Given the description of an element on the screen output the (x, y) to click on. 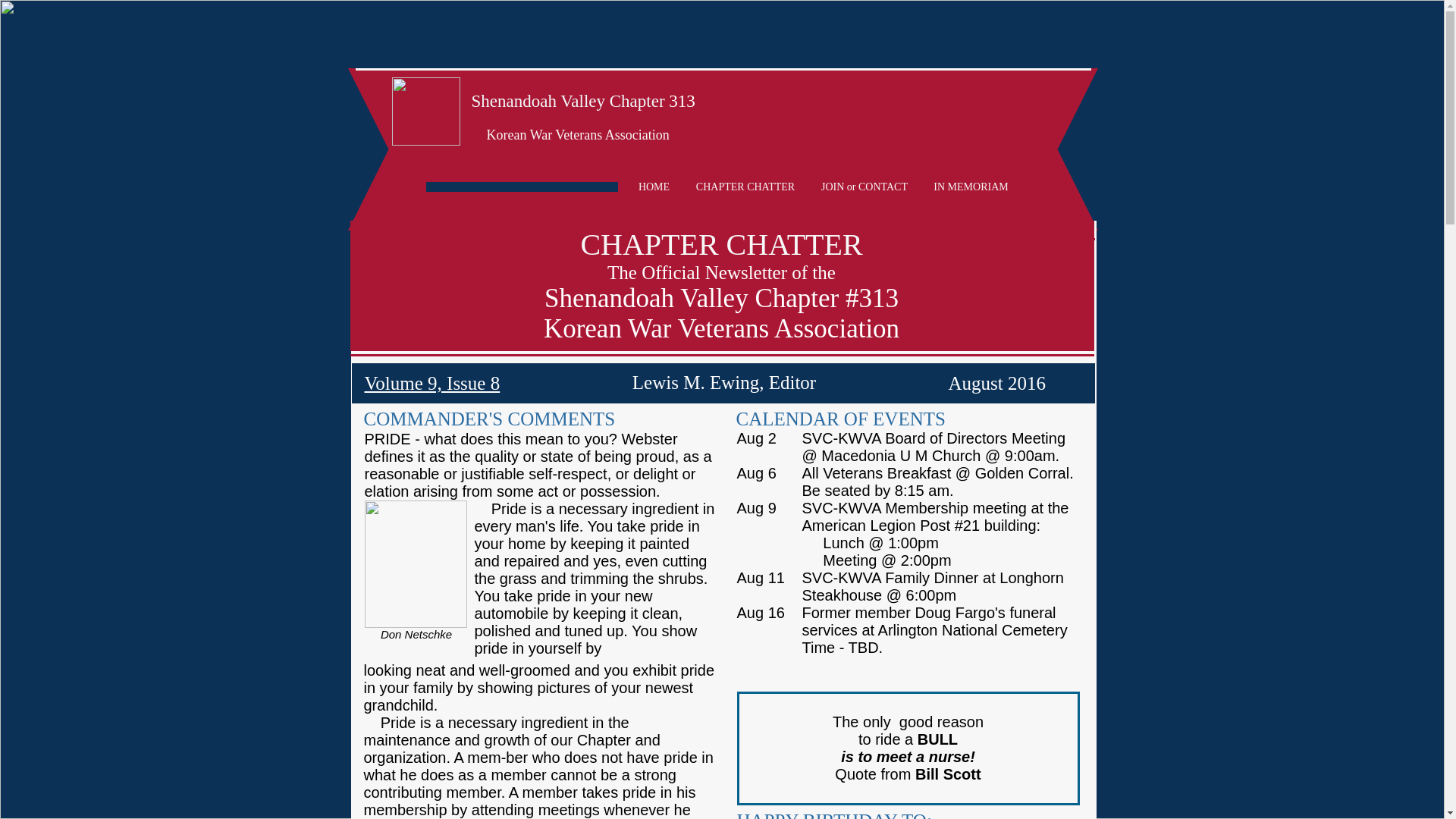
HOME (653, 186)
JOIN or CONTACT (864, 186)
Korean War Veterans Association (577, 134)
Shenandoah Valley Chapter (568, 100)
IN MEMORIAM (970, 186)
CHAPTER CHATTER (745, 186)
